Given the description of an element on the screen output the (x, y) to click on. 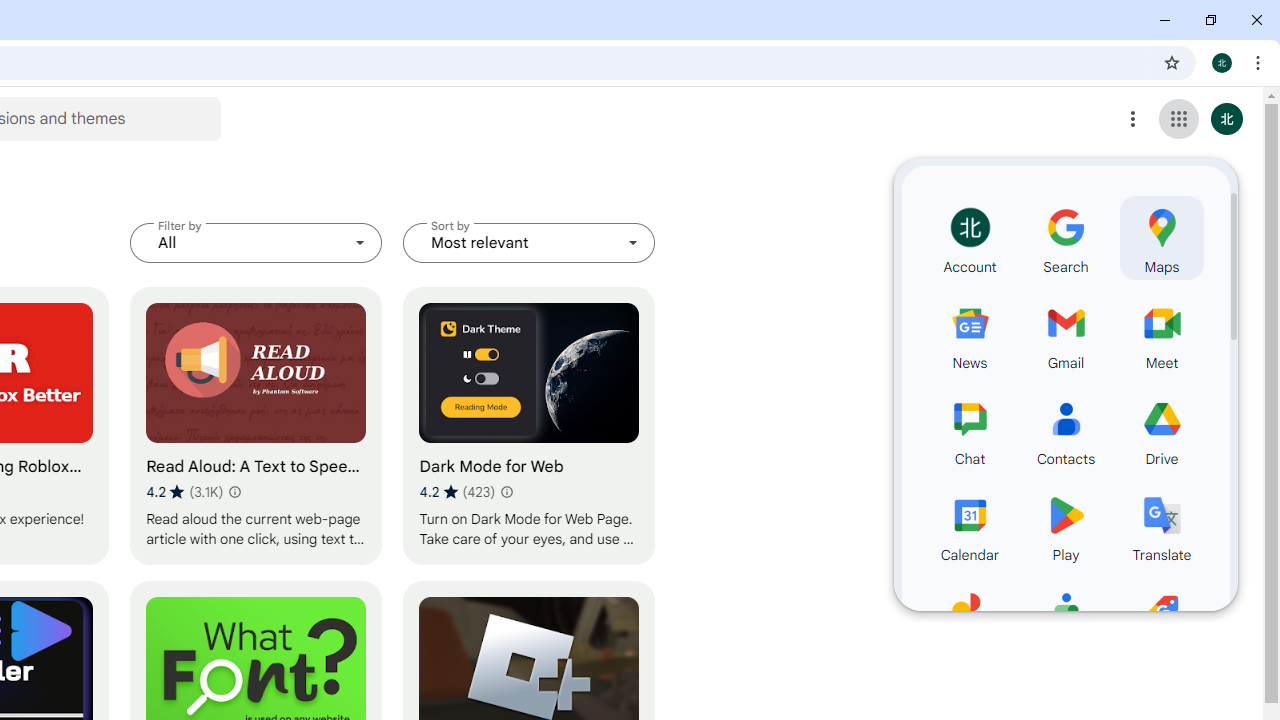
Sort by Most relevant (529, 242)
